Given the description of an element on the screen output the (x, y) to click on. 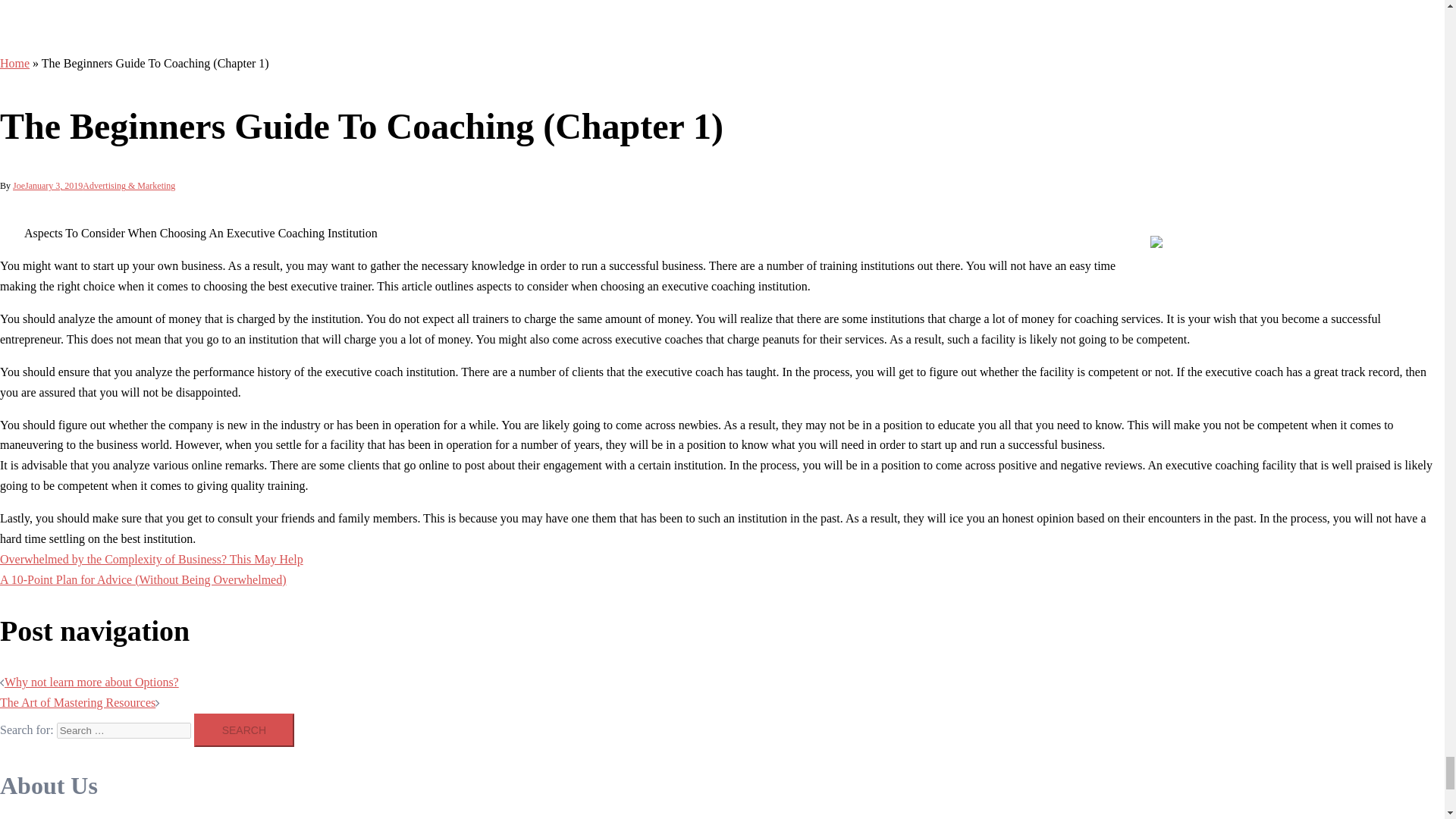
Search (243, 729)
Search (243, 729)
